Given the description of an element on the screen output the (x, y) to click on. 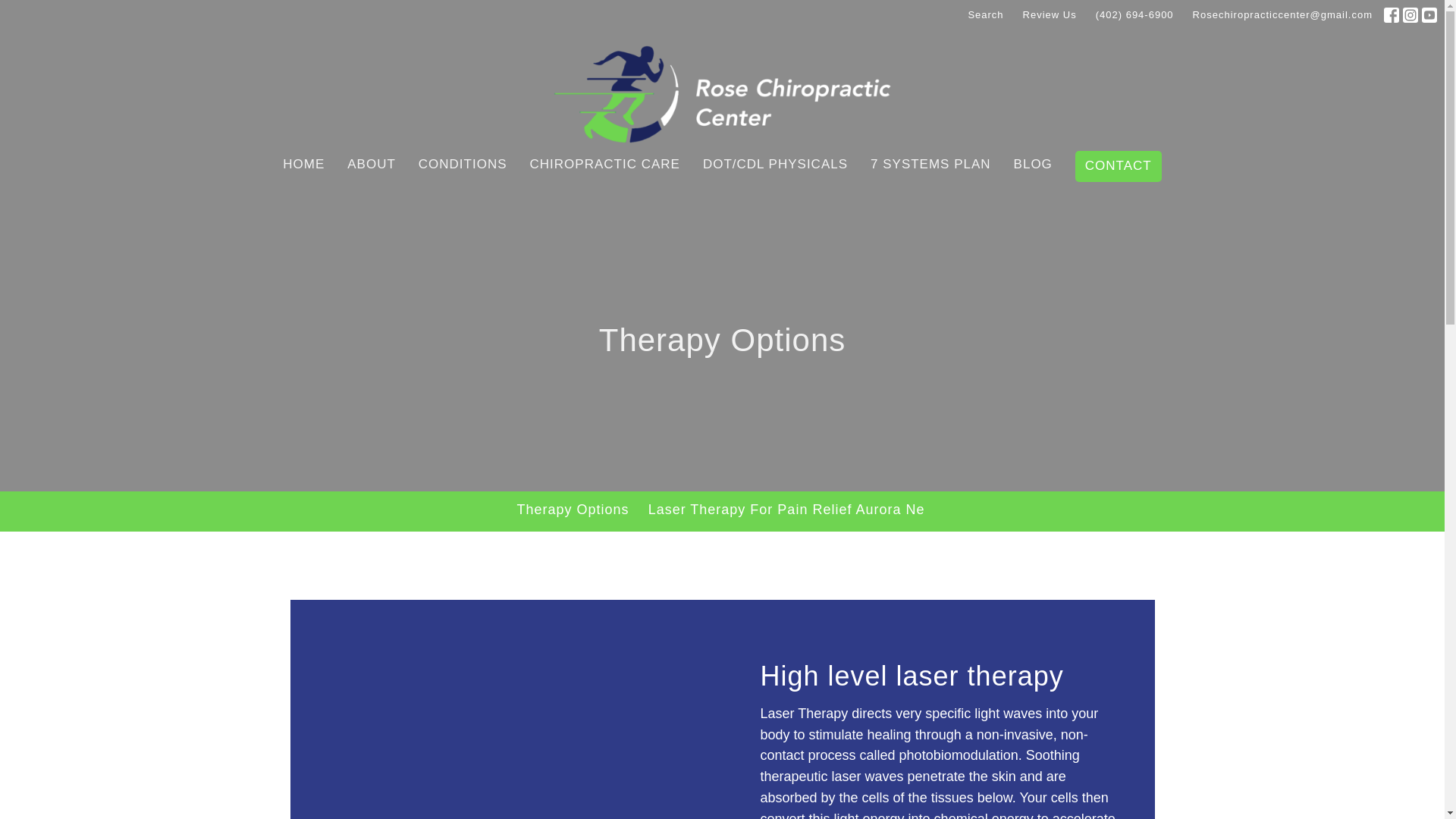
Laser Therapy For Pain Relief Aurora Ne (786, 511)
ABOUT (371, 164)
Therapy Options (573, 511)
CONTACT (1118, 165)
BLOG (1032, 164)
CHIROPRACTIC CARE (604, 164)
HOME (303, 164)
7 SYSTEMS PLAN (930, 164)
CONDITIONS (462, 164)
Search (984, 15)
